Given the description of an element on the screen output the (x, y) to click on. 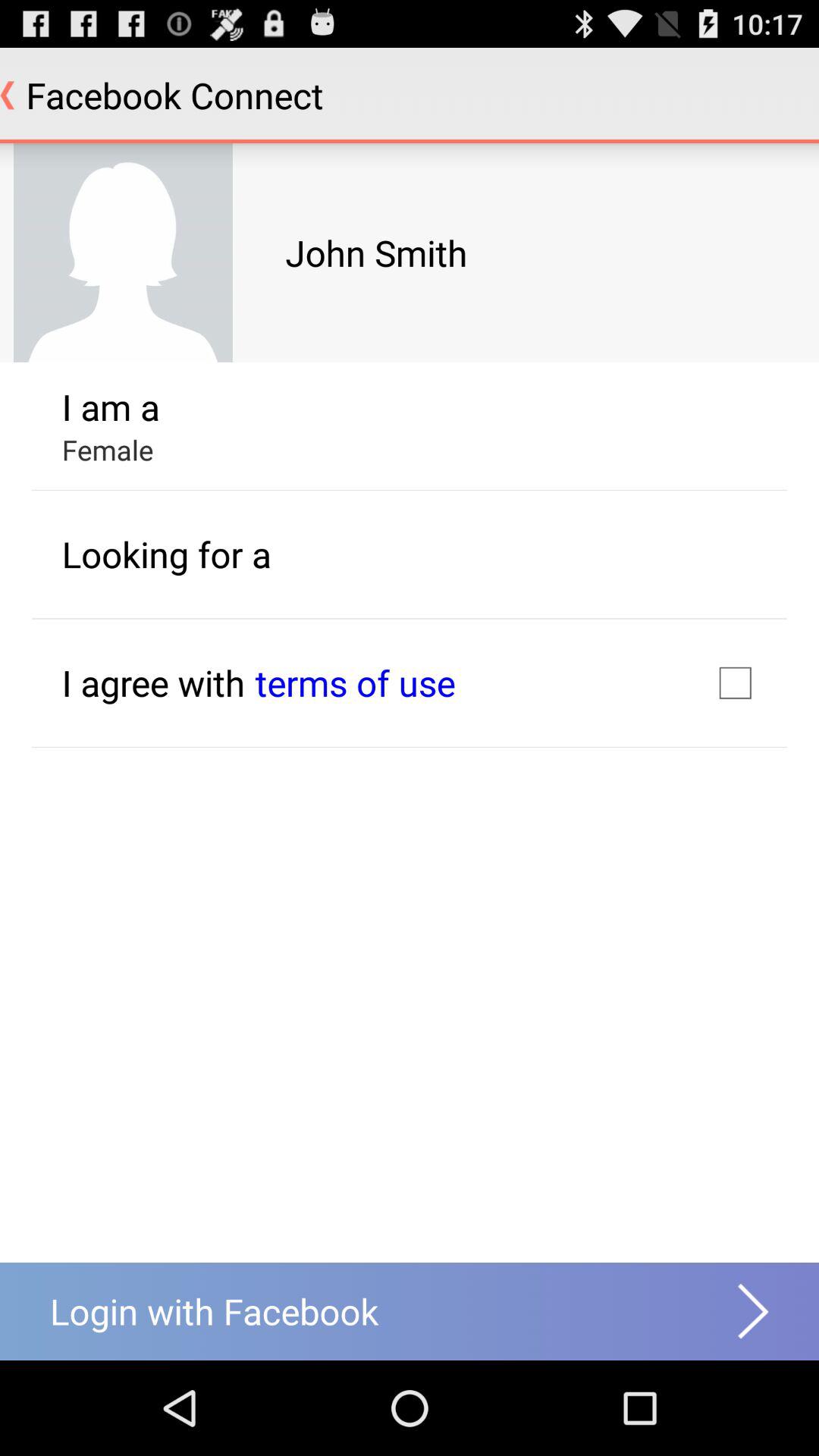
open app next to the terms of use item (153, 682)
